Given the description of an element on the screen output the (x, y) to click on. 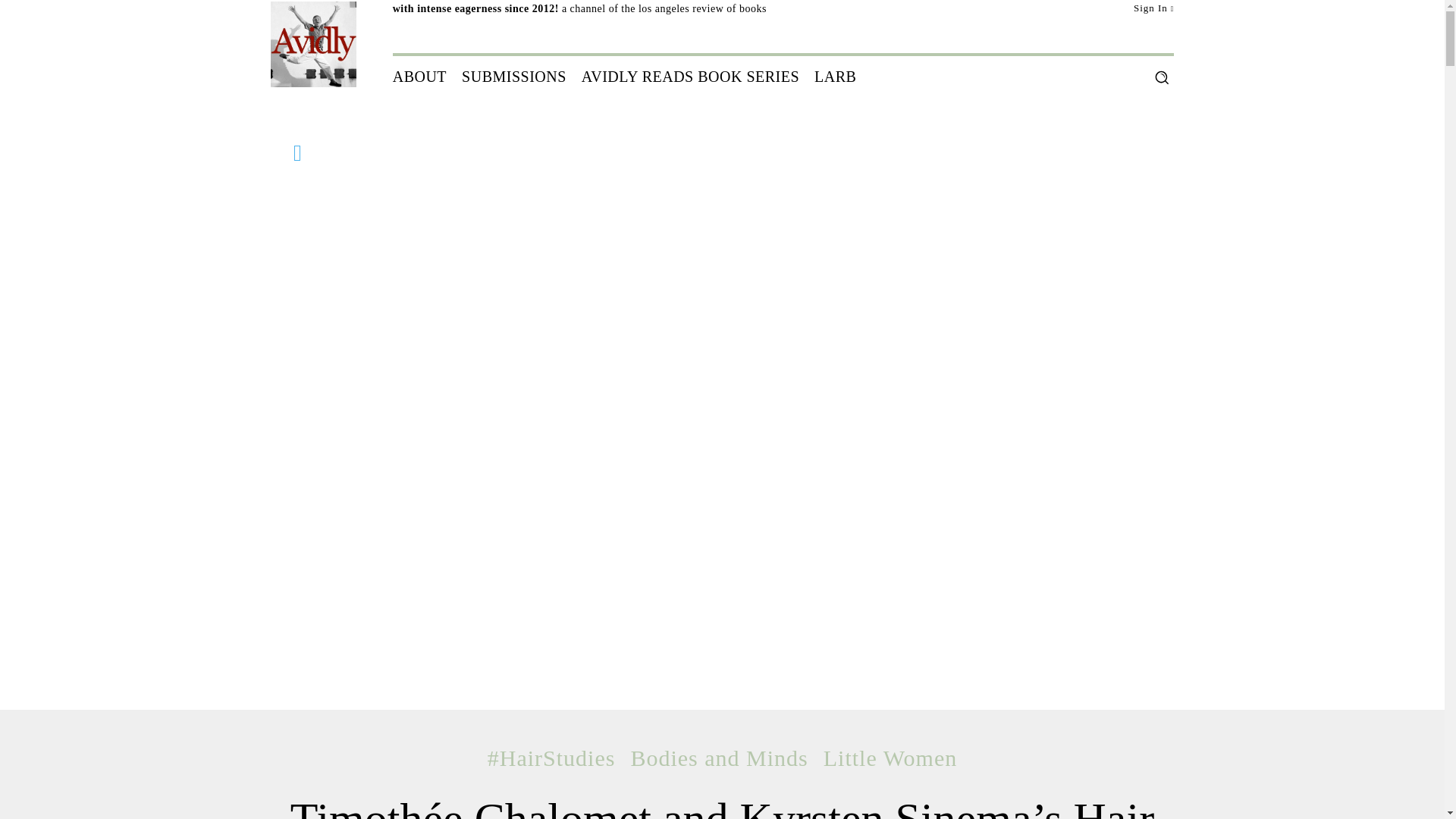
SUBMISSIONS (513, 76)
ABOUT (419, 76)
LARB (834, 76)
AVIDLY READS BOOK SERIES (689, 76)
Little Women (891, 758)
Bodies and Minds (719, 758)
Sign In (1154, 8)
